Given the description of an element on the screen output the (x, y) to click on. 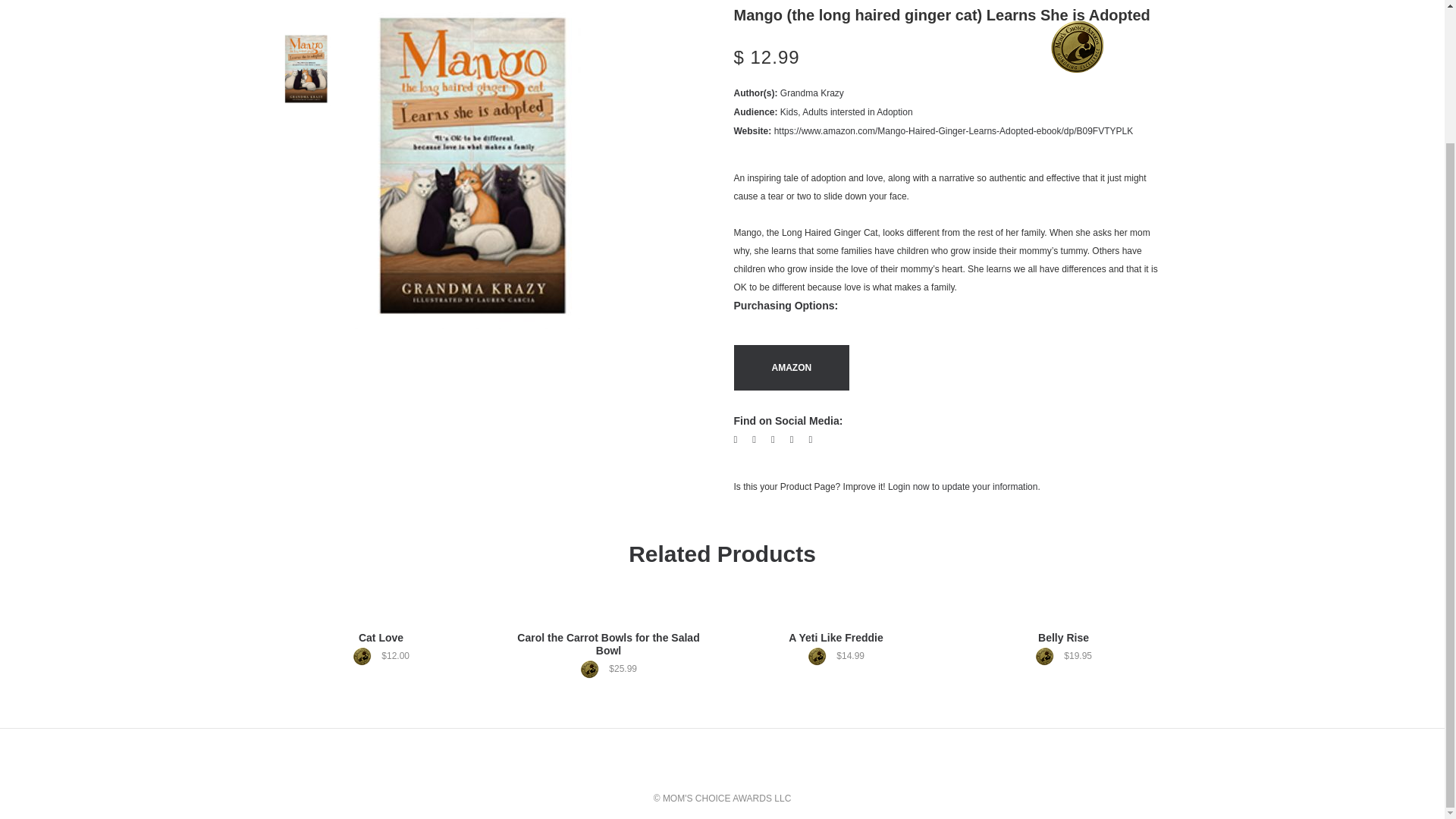
MCA Gold Award (593, 669)
MCA Gold Award (1076, 46)
MCA Gold Award (1048, 656)
MCA Gold Award (365, 656)
MCA Gold Award (821, 656)
